Given the description of an element on the screen output the (x, y) to click on. 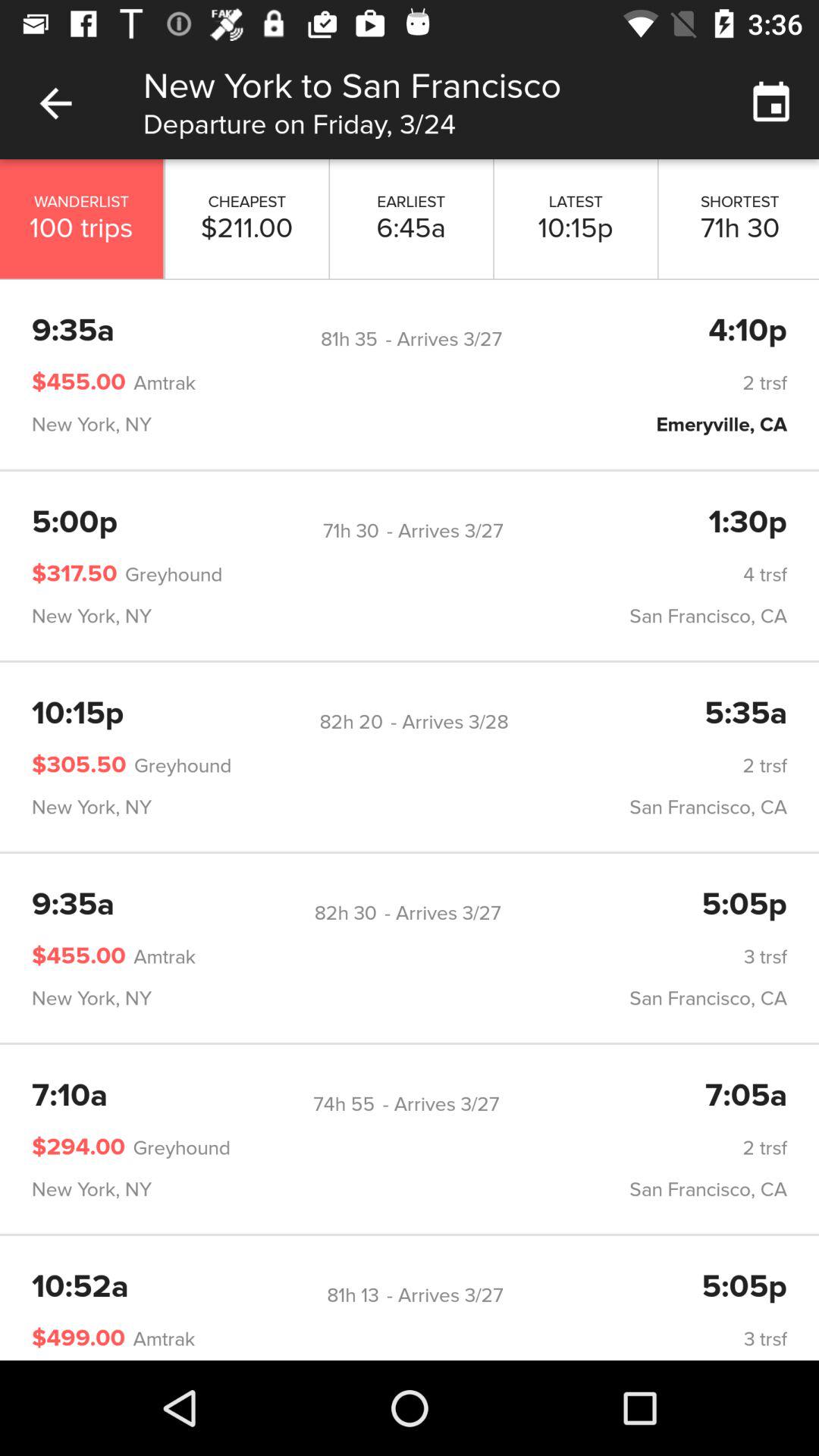
turn on icon above wanderlist (55, 103)
